Given the description of an element on the screen output the (x, y) to click on. 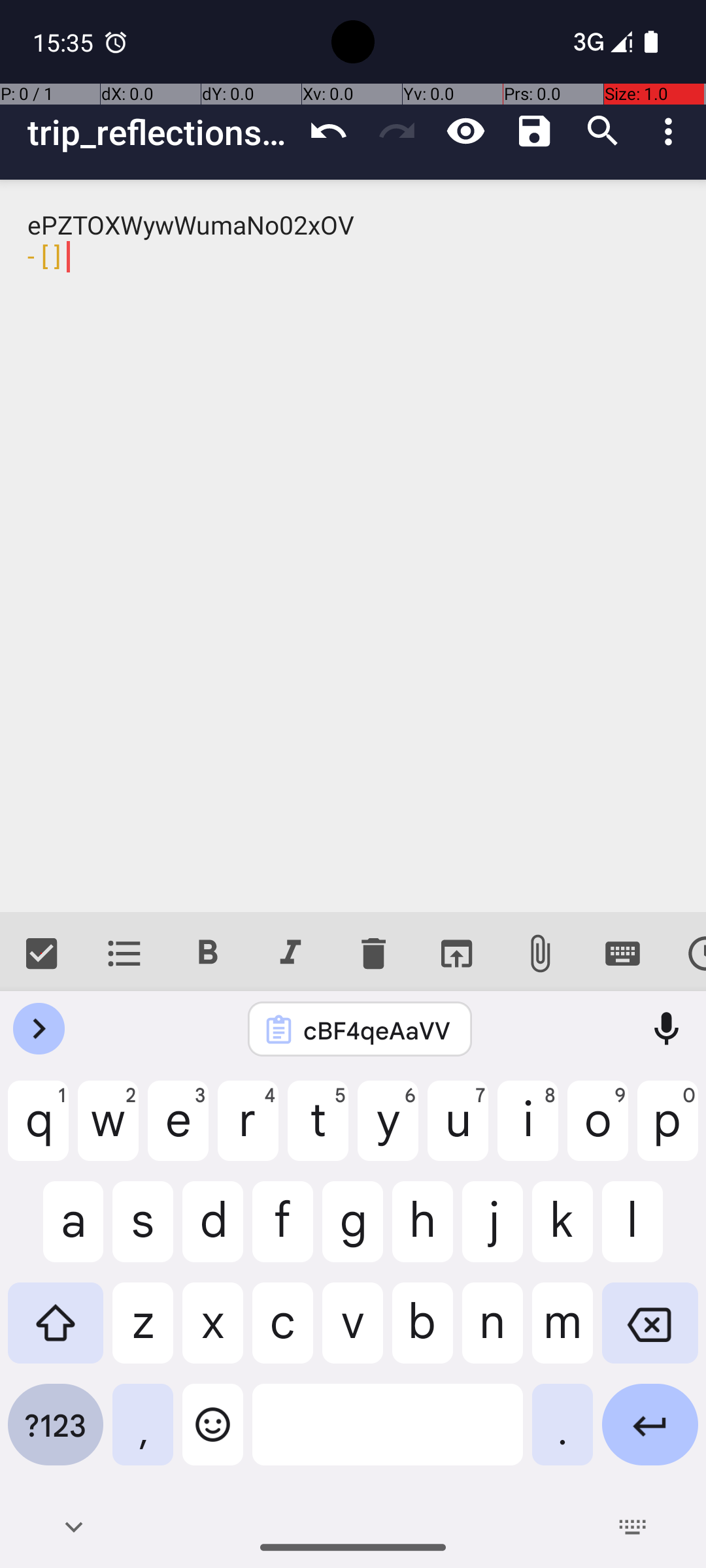
trip_reflections_recent_final Element type: android.widget.TextView (160, 131)
ePZTOXWywWumaNo02xOV
- [ ]  Element type: android.widget.EditText (353, 545)
cBF4qeAaVV Element type: android.widget.TextView (377, 1029)
